Given the description of an element on the screen output the (x, y) to click on. 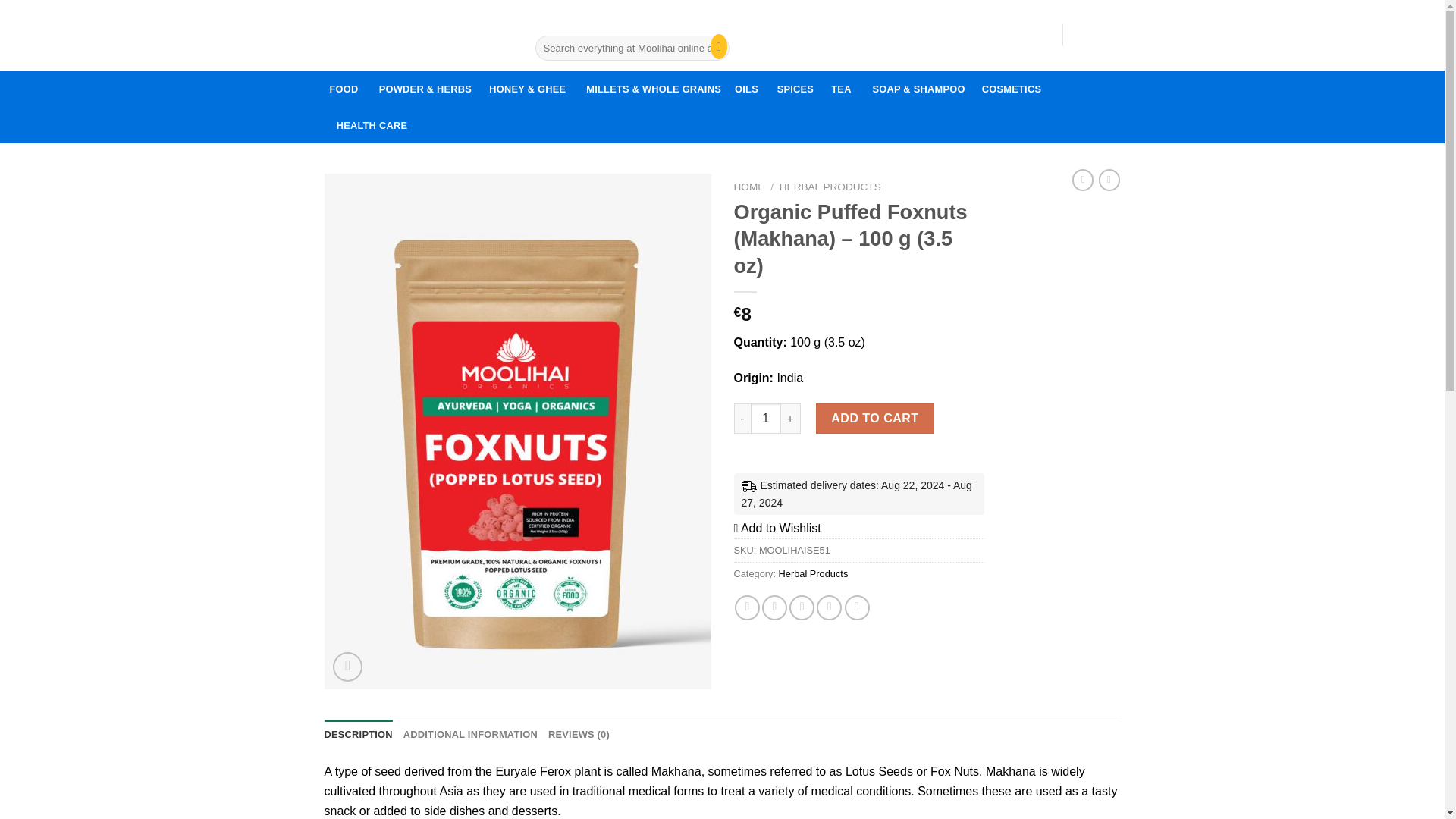
OILS (745, 88)
ADD TO CART (874, 418)
Share on Facebook (896, 34)
Email to a Friend (747, 607)
Add to Wishlist (801, 607)
HOME (777, 527)
Zoom (749, 186)
COSMETICS (347, 666)
Cart (1010, 88)
